Given the description of an element on the screen output the (x, y) to click on. 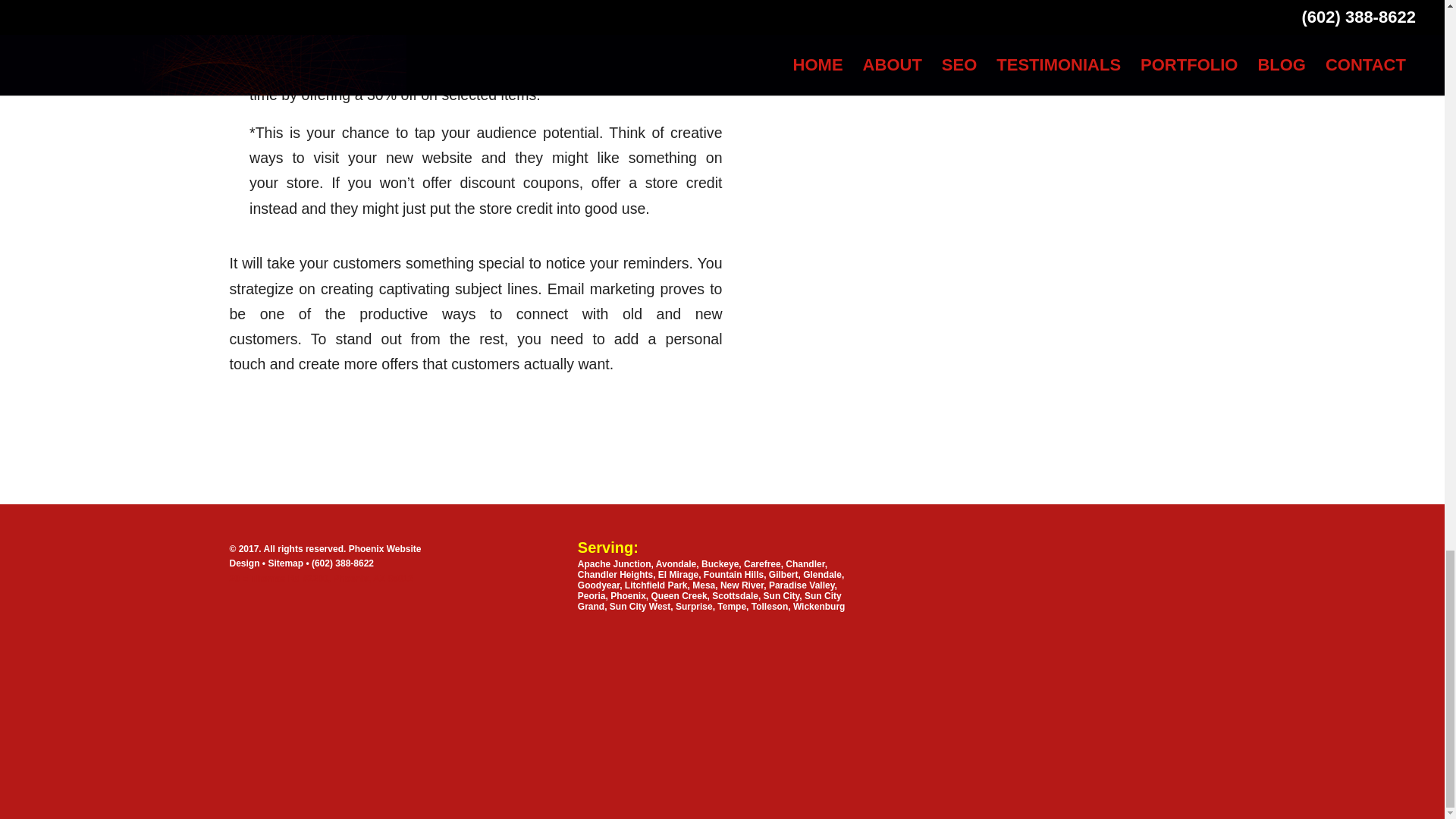
Sitemap  (286, 562)
Phoenix Web Design (312, 600)
Phoenix Website Design (324, 555)
